Given the description of an element on the screen output the (x, y) to click on. 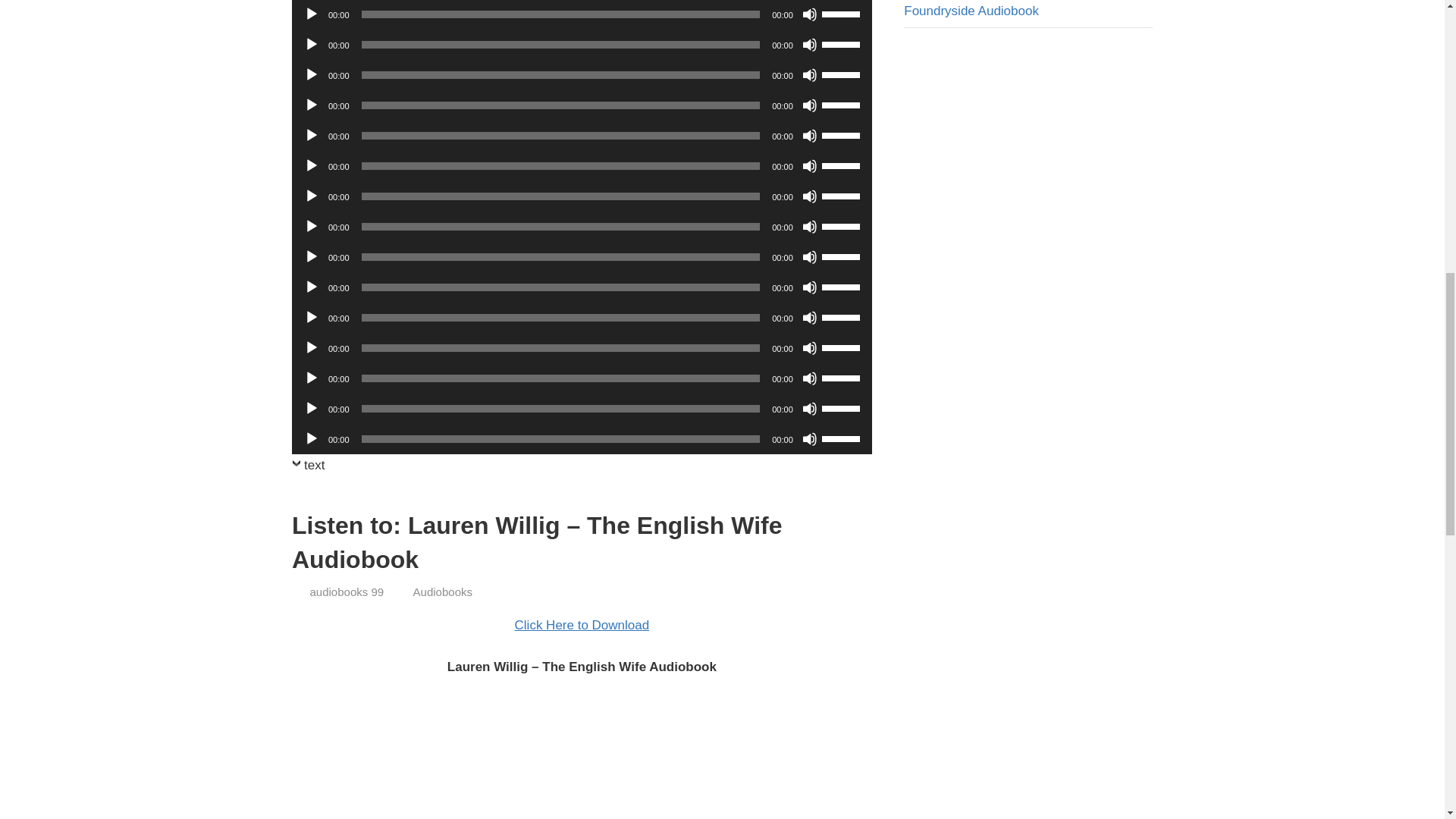
Mute (809, 105)
Play (311, 165)
Play (311, 105)
Mute (809, 165)
Mute (809, 74)
Mute (809, 135)
Mute (809, 14)
Play (311, 74)
Play (311, 14)
Mute (809, 196)
Play (311, 196)
Mute (809, 44)
Play (311, 44)
Play (311, 135)
